Given the description of an element on the screen output the (x, y) to click on. 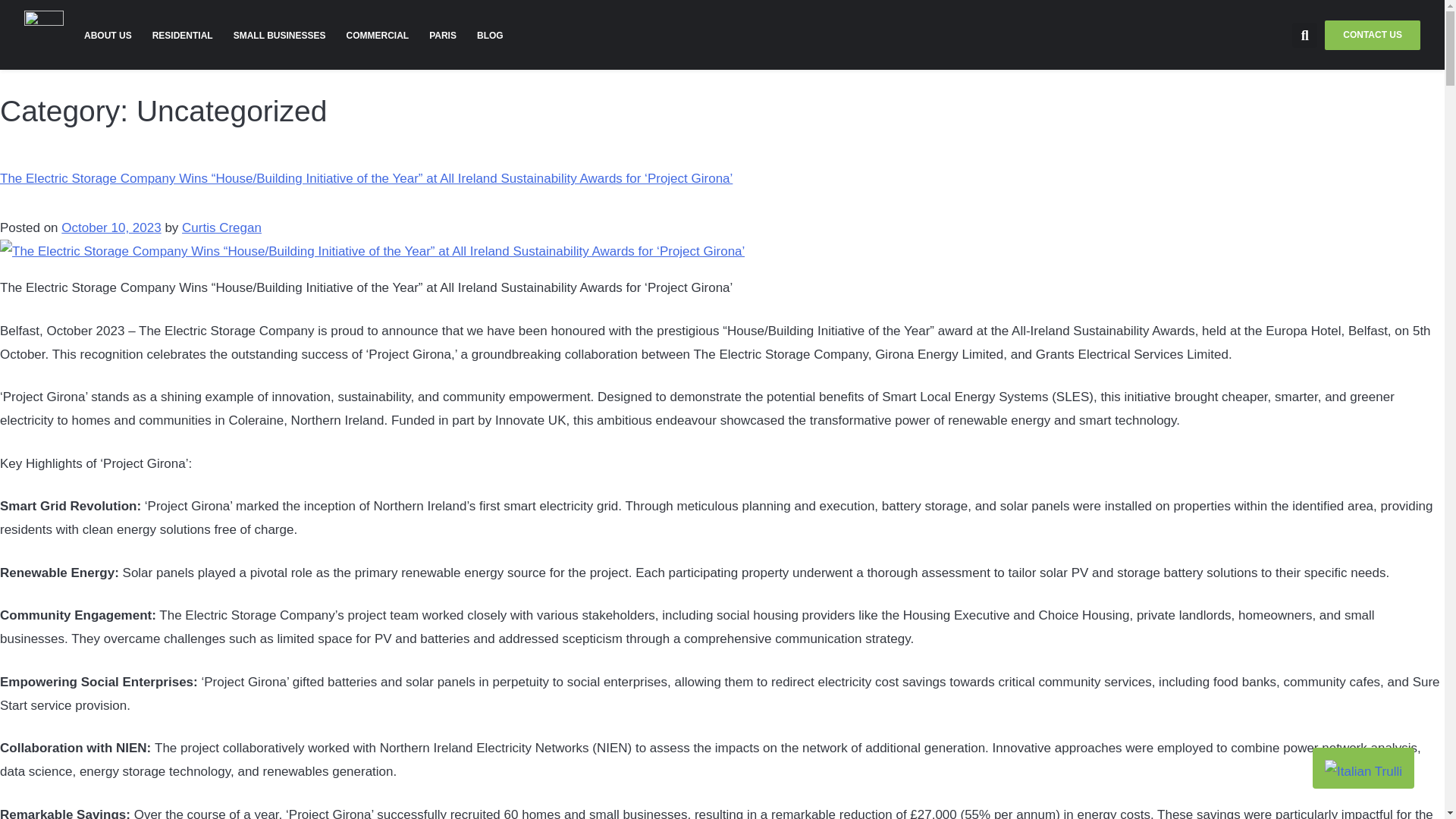
SMALL BUSINESSES (279, 34)
CONTACT US (1372, 34)
RESIDENTIAL (182, 34)
BLOG (490, 34)
PARIS (443, 34)
COMMERCIAL (377, 34)
ABOUT US (108, 34)
Curtis Cregan (222, 227)
October 10, 2023 (110, 227)
